Given the description of an element on the screen output the (x, y) to click on. 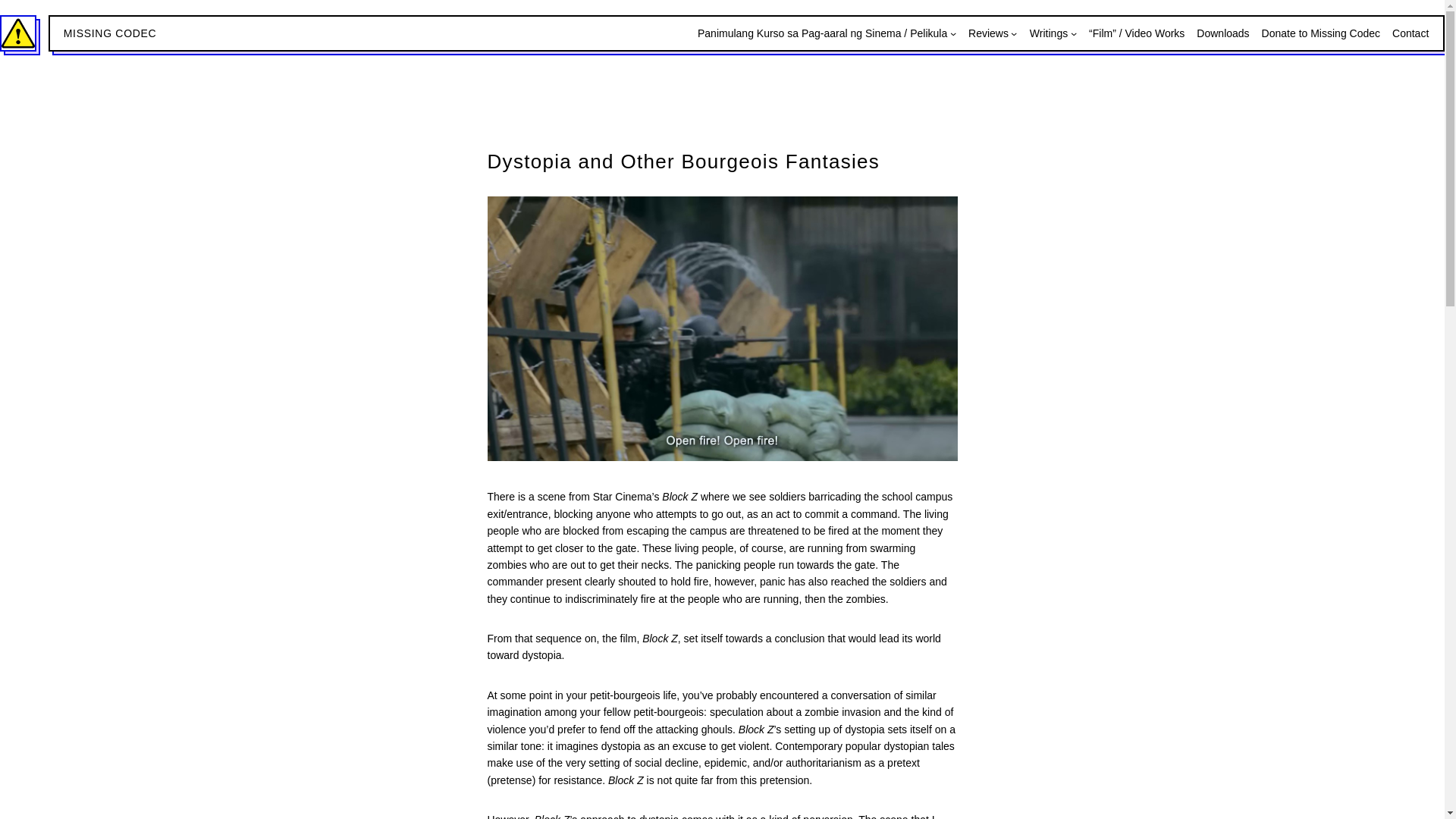
Contact (1409, 33)
Writings (1048, 33)
Downloads (1222, 33)
Donate to Missing Codec (1321, 33)
MISSING CODEC (110, 33)
Reviews (988, 33)
